Given the description of an element on the screen output the (x, y) to click on. 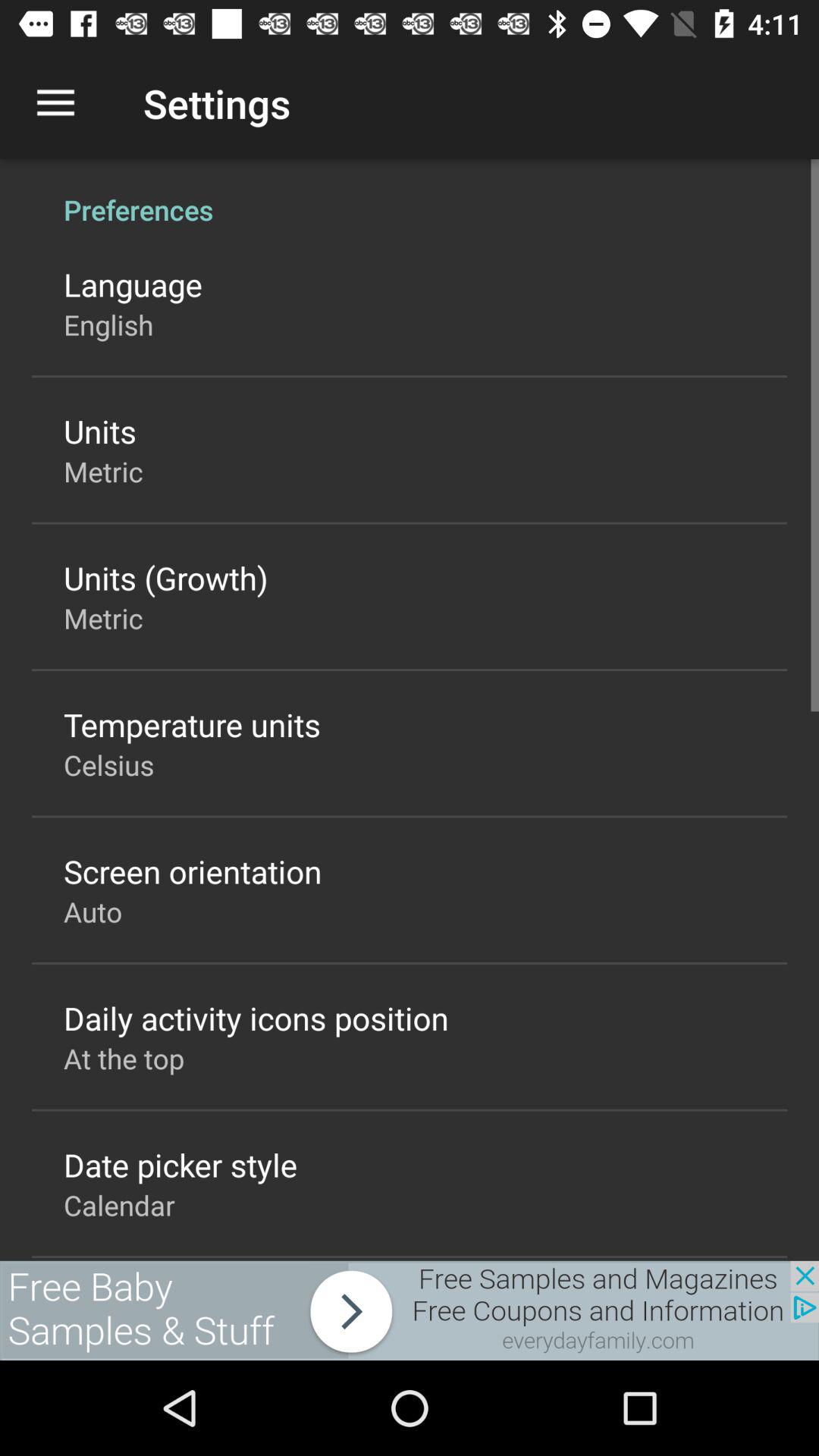
go to advertising partner (409, 1310)
